Given the description of an element on the screen output the (x, y) to click on. 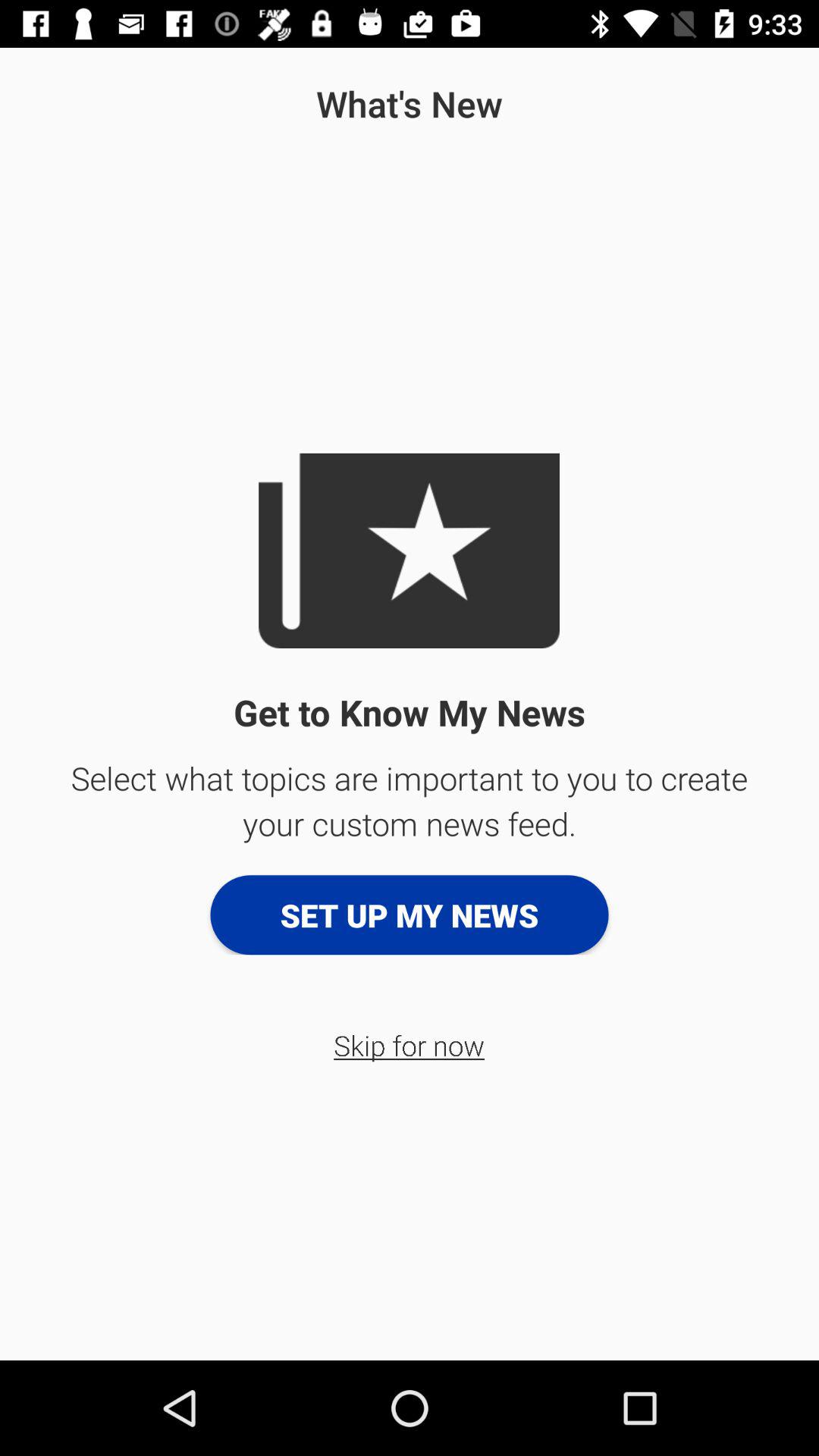
open app above skip for now item (409, 914)
